Given the description of an element on the screen output the (x, y) to click on. 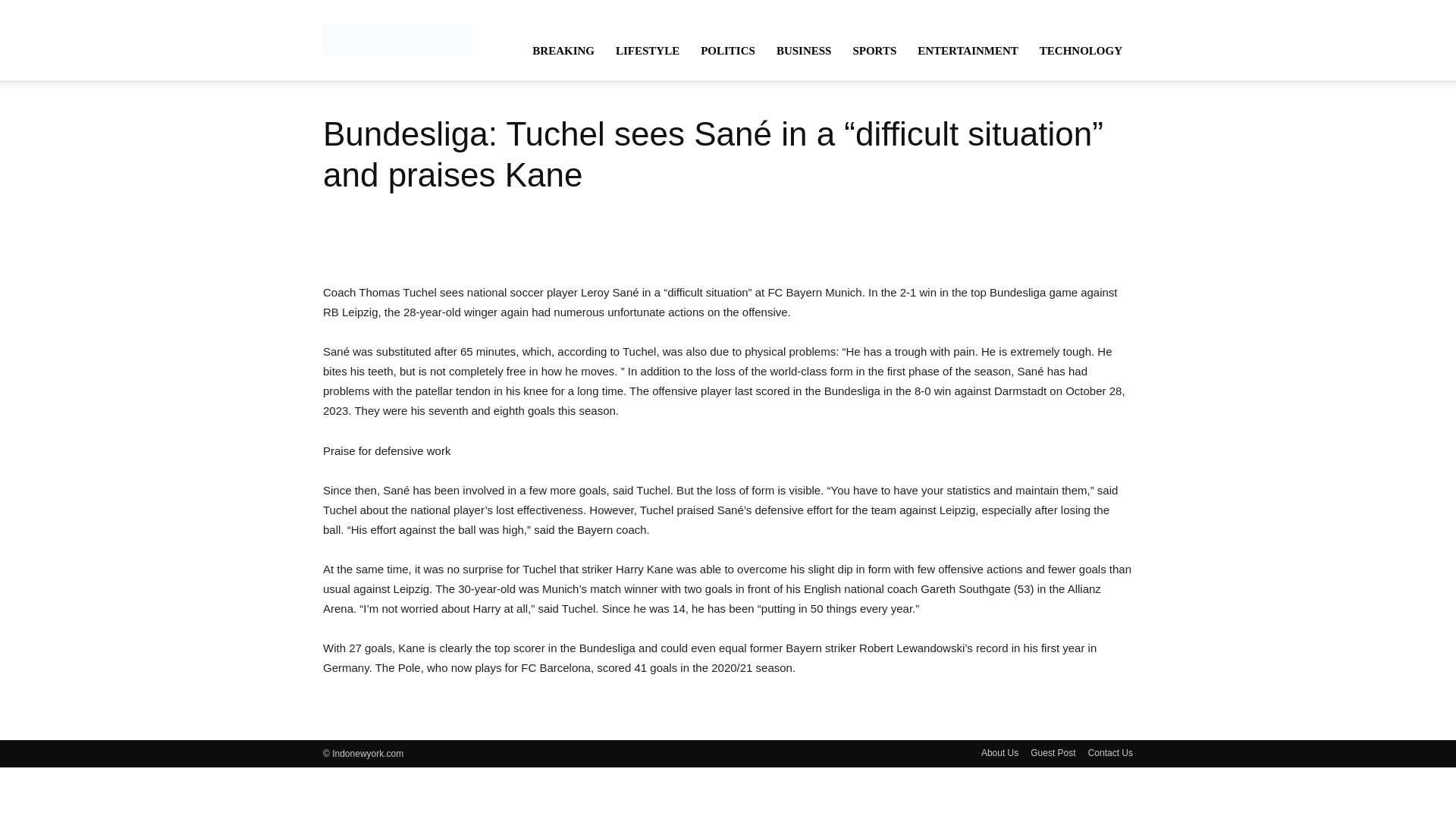
LIFESTYLE (647, 50)
BREAKING (563, 50)
Indo Newyork (398, 39)
TECHNOLOGY (1080, 50)
BUSINESS (804, 50)
Guest Post (1052, 753)
About Us (999, 753)
Contact Us (1109, 753)
ENTERTAINMENT (968, 50)
SPORTS (874, 50)
POLITICS (727, 50)
